Given the description of an element on the screen output the (x, y) to click on. 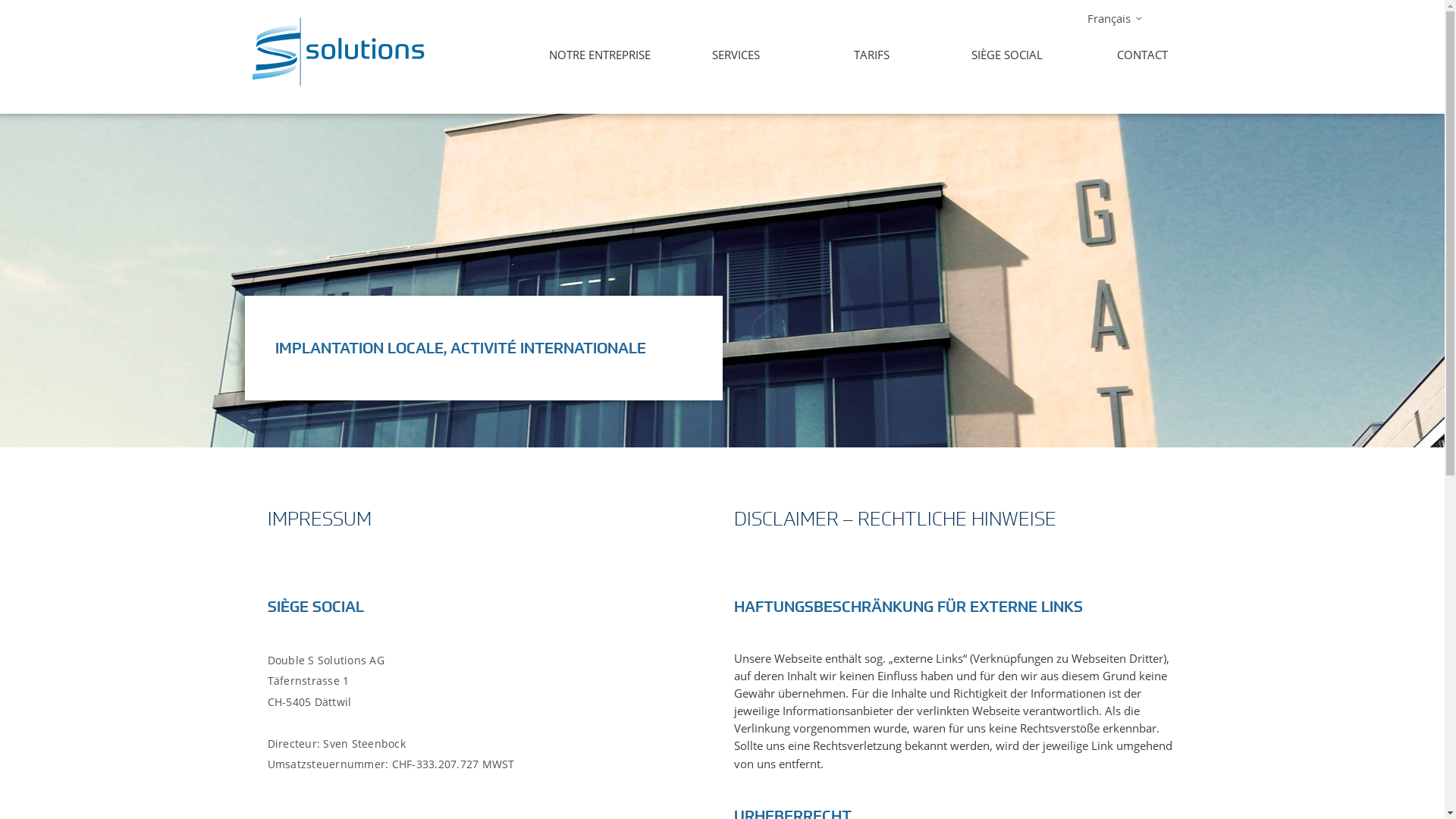
SERVICES Element type: text (729, 54)
NOTRE ENTREPRISE Element type: text (593, 54)
info@2s-ag.ch Element type: text (347, 735)
CONTACT Element type: text (1135, 54)
TARIFS Element type: text (865, 54)
+41 (0) 56 501 00 06 Element type: text (377, 713)
Impressum Element type: text (611, 733)
